Given the description of an element on the screen output the (x, y) to click on. 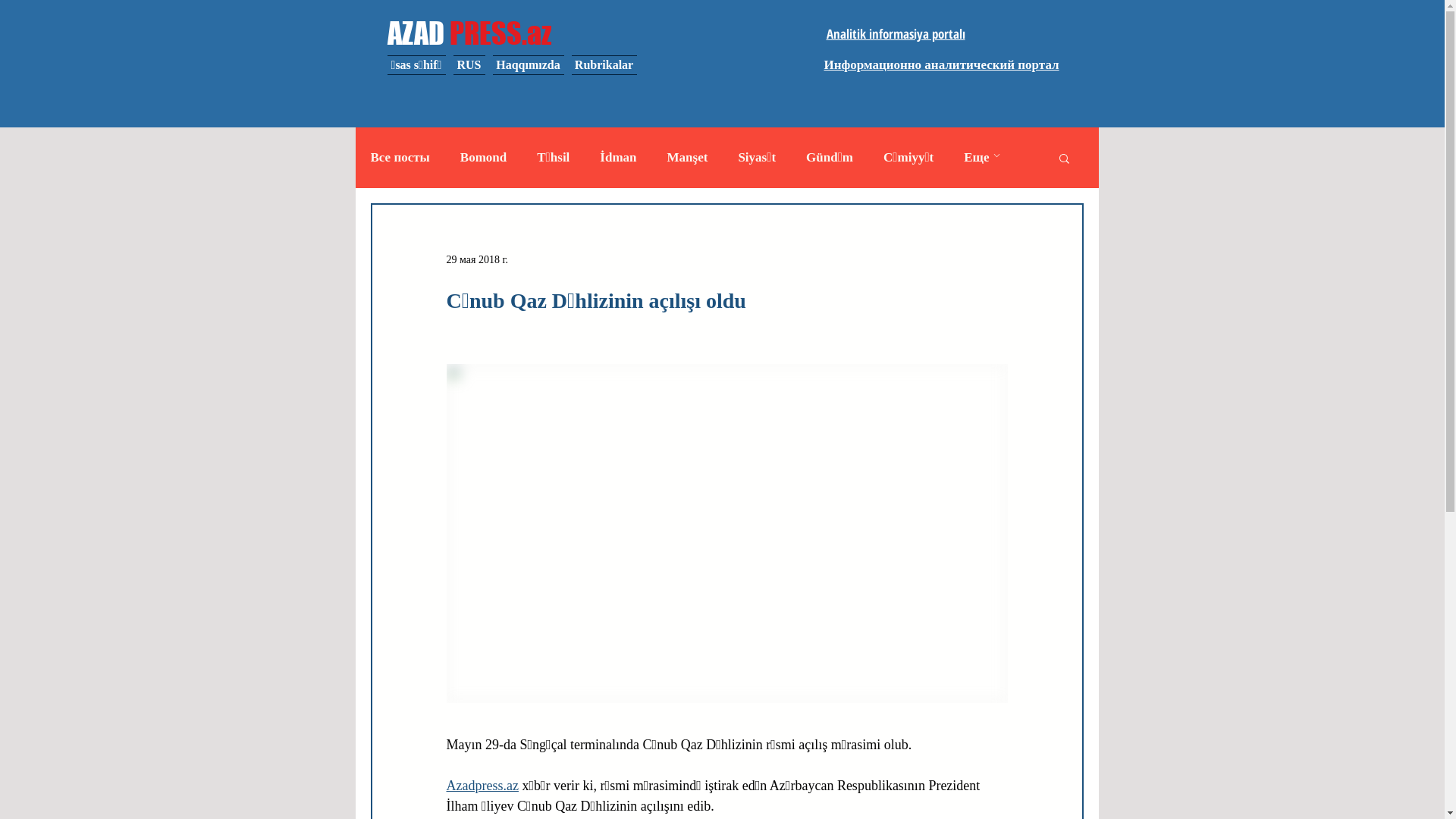
Azadpress.az Element type: text (481, 785)
RUS Element type: text (468, 65)
Rubrikalar Element type: text (601, 65)
AZAD PRESS.az Element type: text (468, 32)
Bomond Element type: text (483, 157)
